Given the description of an element on the screen output the (x, y) to click on. 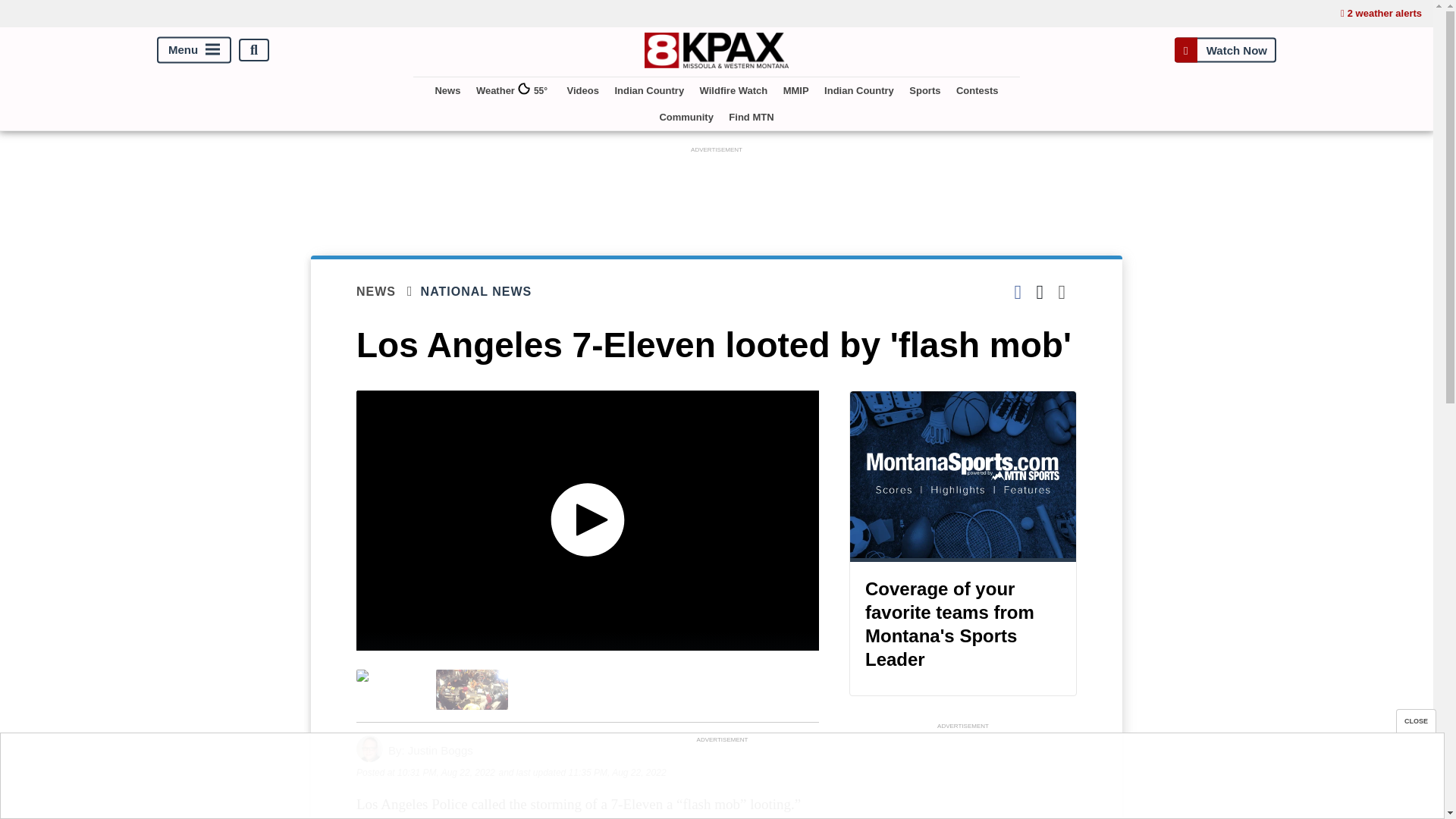
3rd party ad content (721, 780)
Watch Now (1224, 50)
3rd party ad content (716, 191)
3rd party ad content (962, 776)
Menu (194, 49)
